Given the description of an element on the screen output the (x, y) to click on. 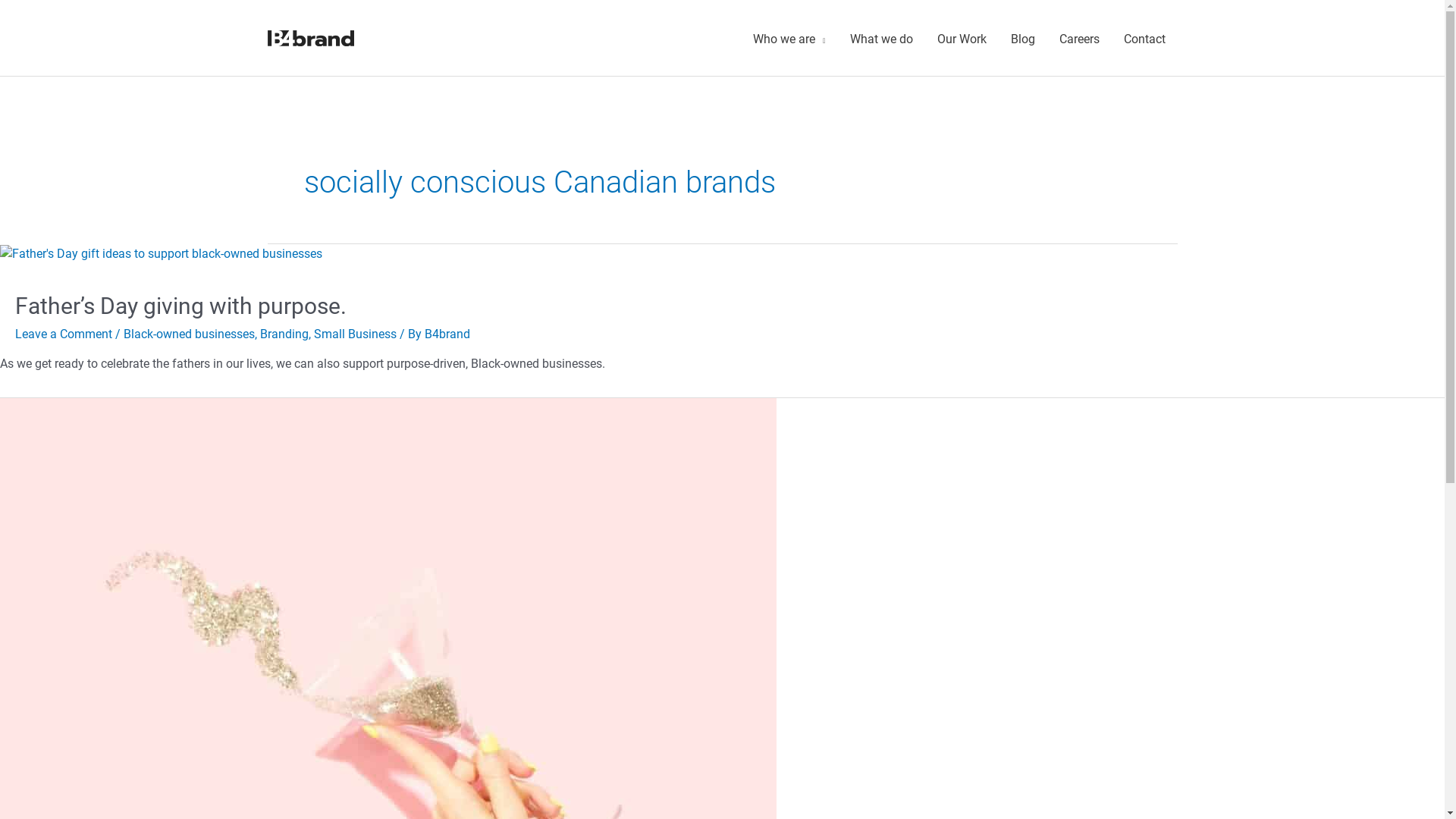
Branding Element type: text (284, 333)
Our Work Element type: text (961, 39)
Who we are Element type: text (788, 39)
What we do Element type: text (880, 39)
B4brand Element type: text (447, 333)
Leave a Comment Element type: text (63, 333)
Small Business Element type: text (354, 333)
Blog Element type: text (1021, 39)
Black-owned businesses Element type: text (188, 333)
Contact Element type: text (1144, 39)
Careers Element type: text (1078, 39)
